Given the description of an element on the screen output the (x, y) to click on. 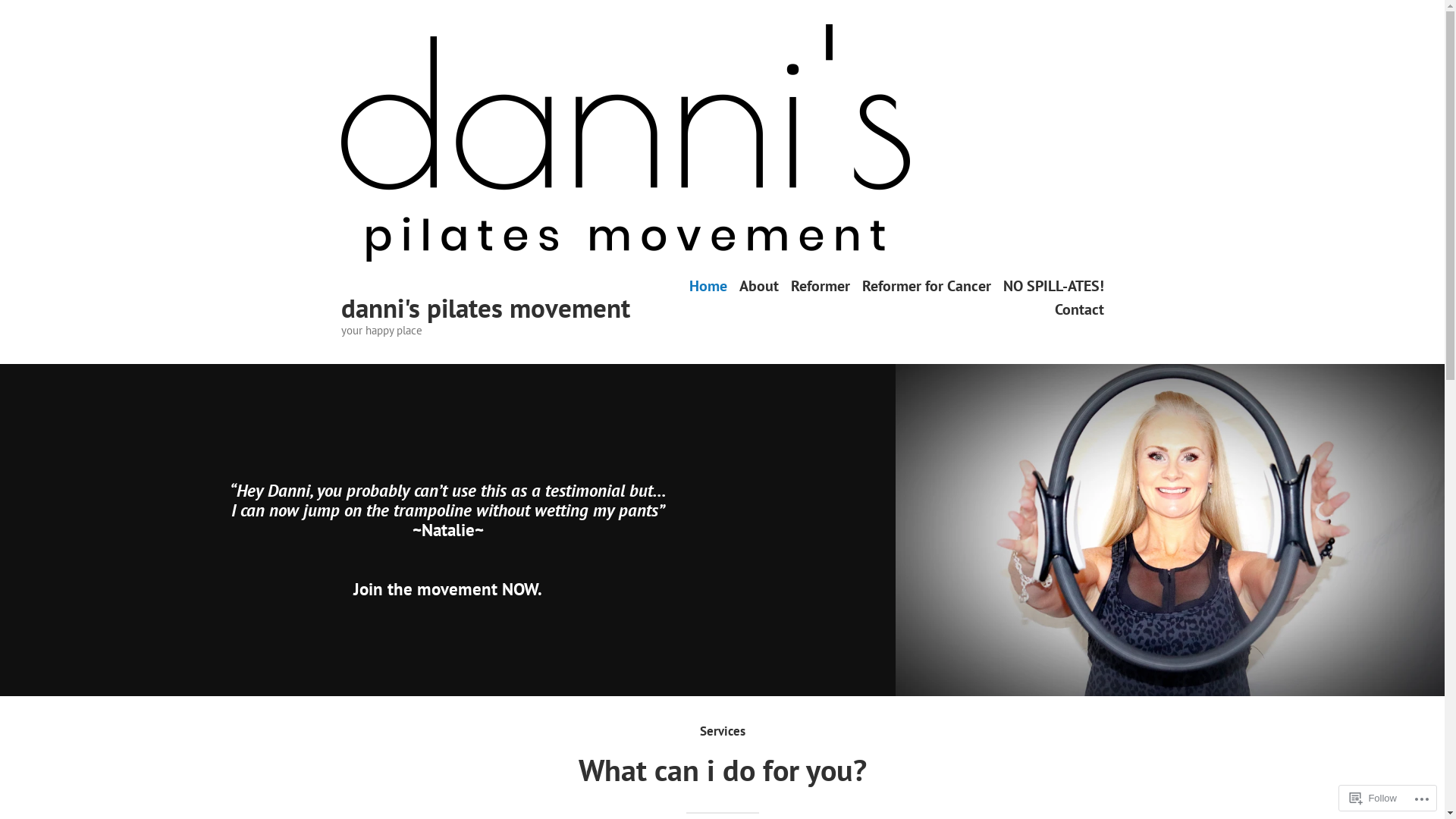
Reformer Element type: text (819, 285)
NO SPILL-ATES! Element type: text (1052, 285)
Contact Element type: text (1078, 309)
Reformer for Cancer Element type: text (925, 285)
danni's pilates movement Element type: text (485, 307)
About Element type: text (758, 285)
Home Element type: text (707, 285)
Follow Element type: text (1372, 797)
